Given the description of an element on the screen output the (x, y) to click on. 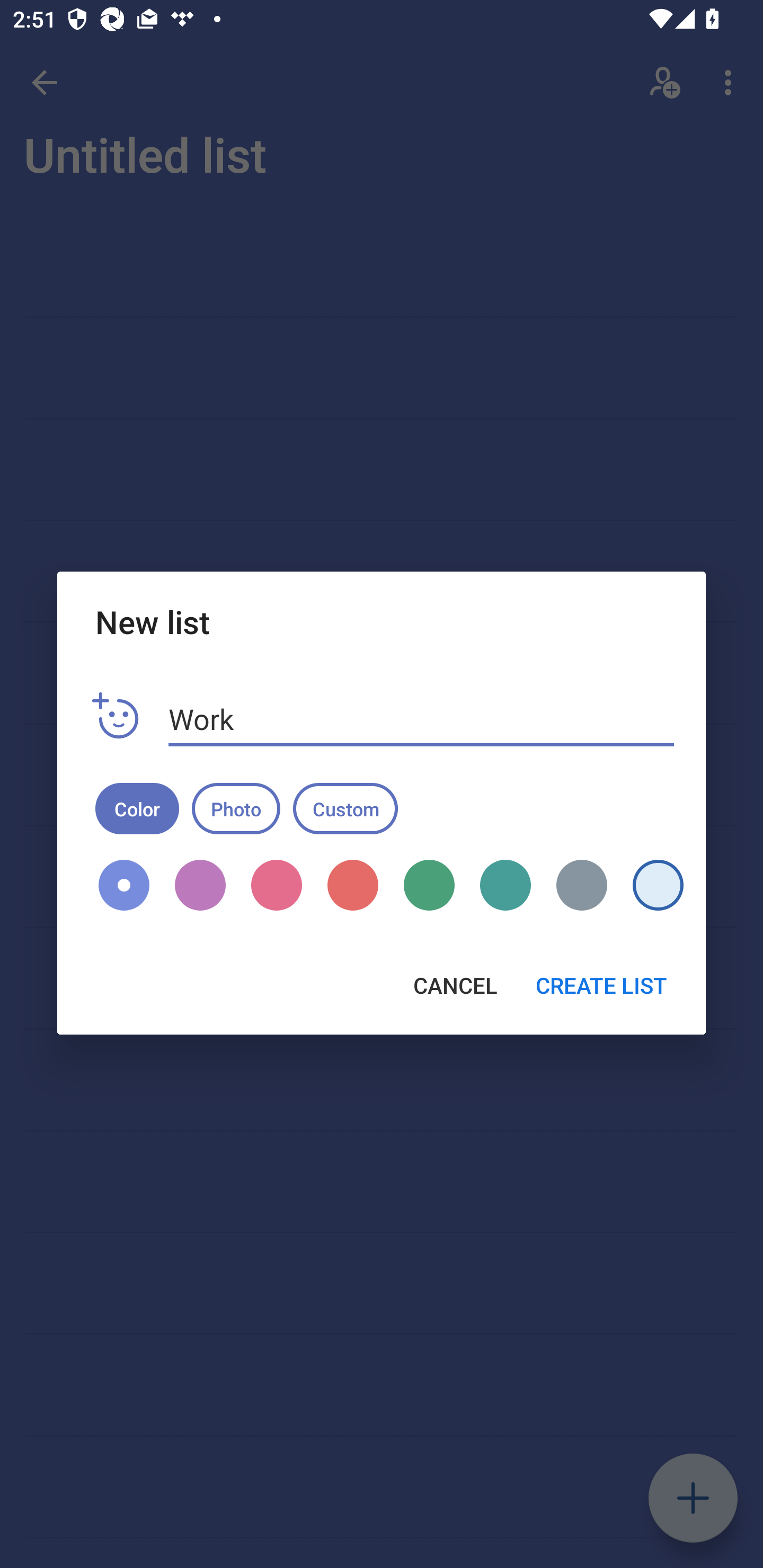
CREATE LIST (601, 985)
